Given the description of an element on the screen output the (x, y) to click on. 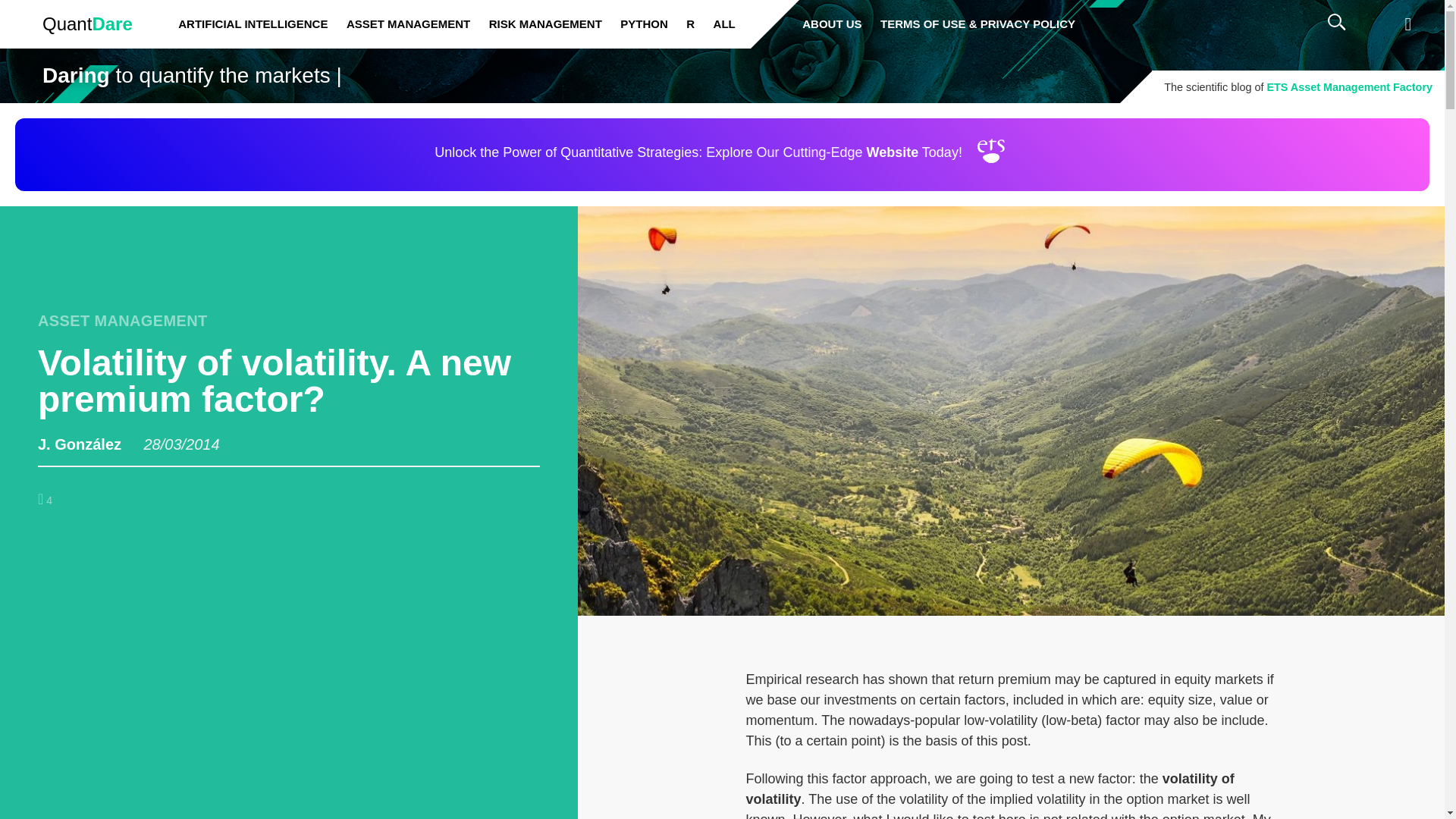
ETS Asset Management Factory (1349, 87)
RISK MANAGEMENT (553, 24)
ABOUT US (839, 24)
ARTIFICIAL INTELLIGENCE (259, 24)
QuantDare (87, 24)
PYTHON (651, 24)
ASSET MANAGEMENT (415, 24)
